Given the description of an element on the screen output the (x, y) to click on. 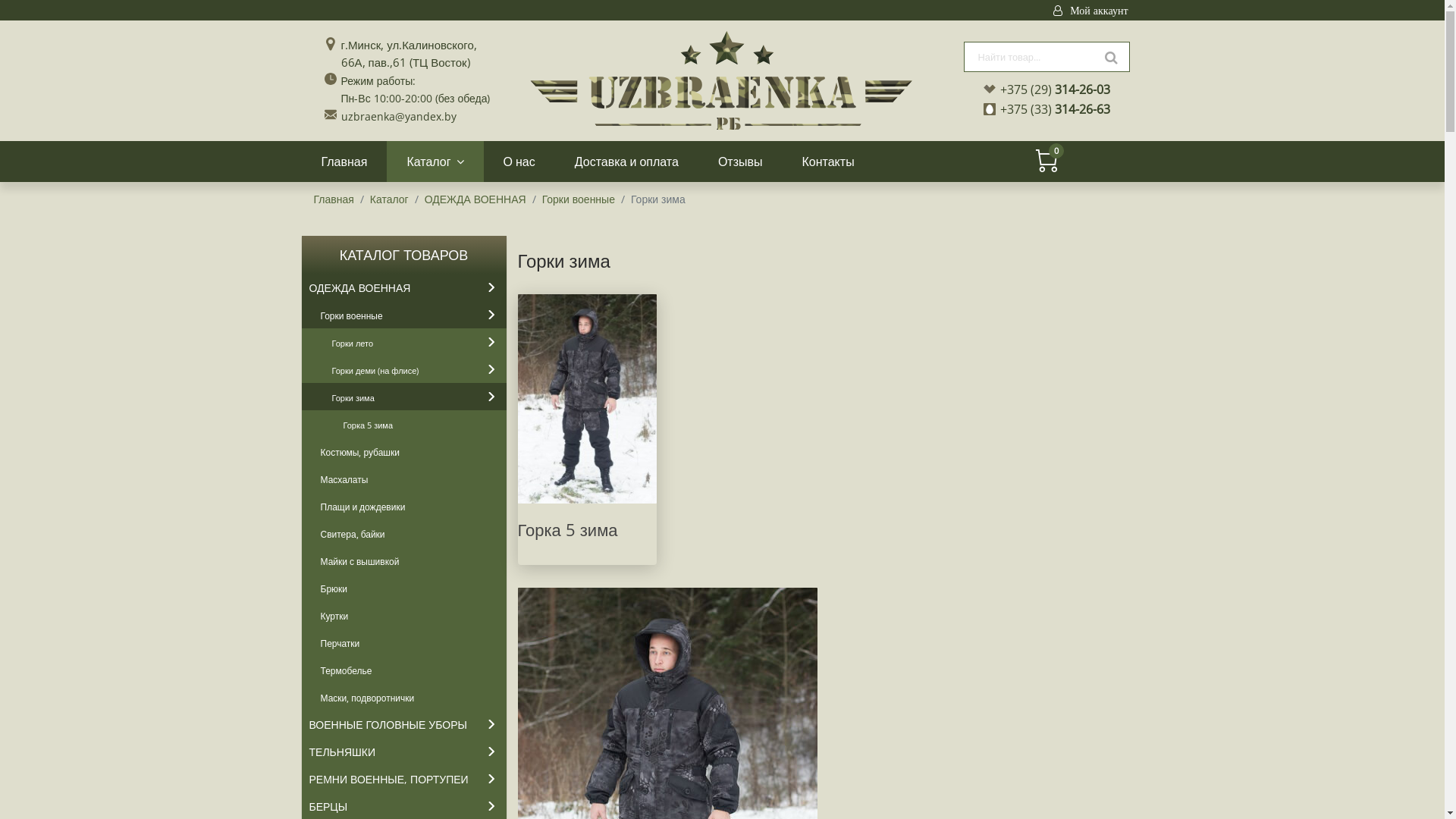
0 Element type: text (1046, 166)
+375 (33) 314-26-63 Element type: text (1054, 108)
+375 (29) 314-26-03 Element type: text (1054, 89)
uzbraenka@yandex.by Element type: text (398, 116)
